Given the description of an element on the screen output the (x, y) to click on. 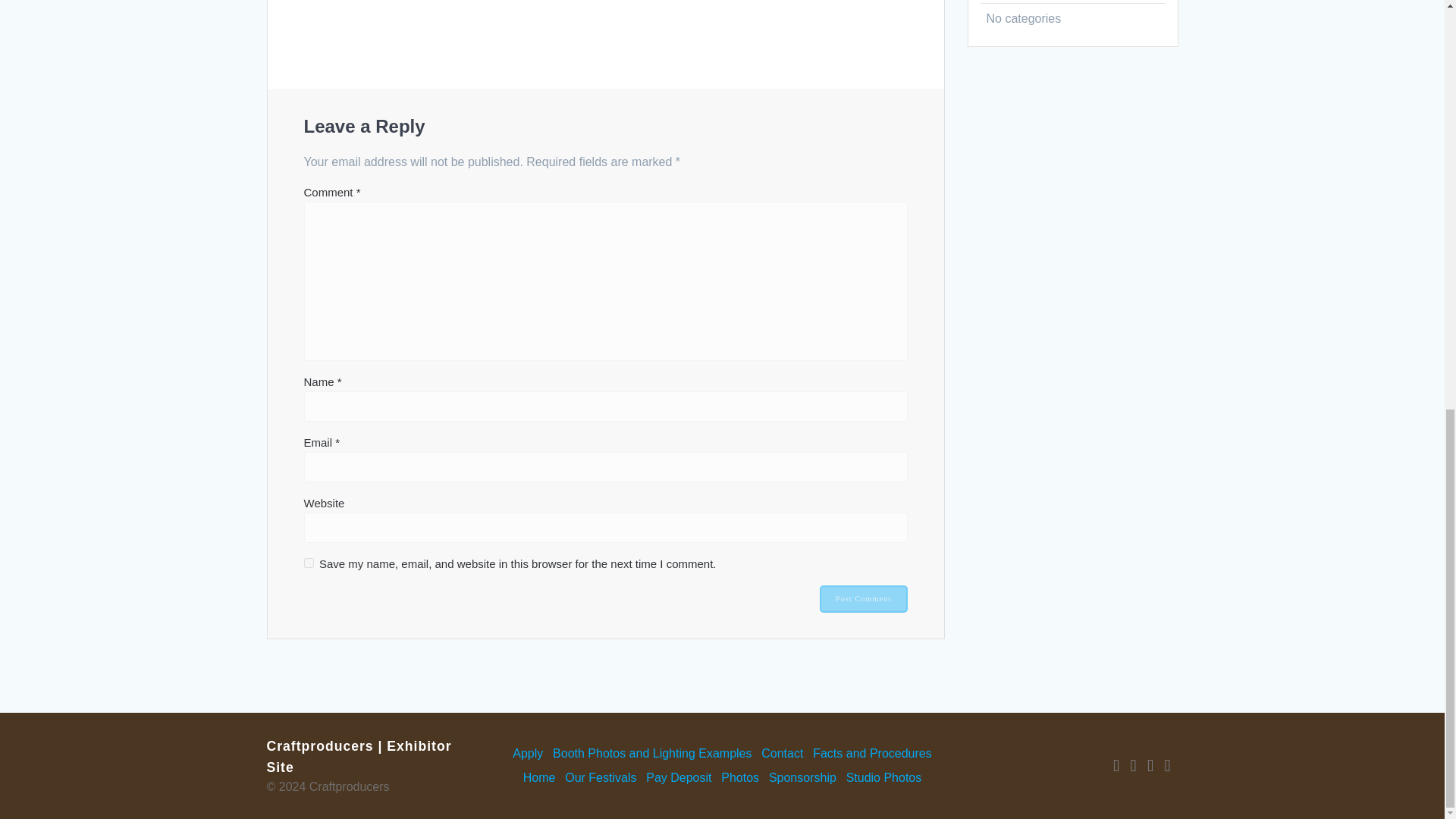
Post Comment (863, 598)
Sponsorship (801, 777)
Post Comment (863, 598)
Facts and Procedures (871, 753)
Booth Photos and Lighting Examples (652, 753)
Studio Photos (883, 777)
Contact (782, 753)
Pay Deposit (678, 777)
yes (307, 562)
Photos (739, 777)
Apply (527, 753)
Our Festivals (600, 777)
Home (539, 777)
